Given the description of an element on the screen output the (x, y) to click on. 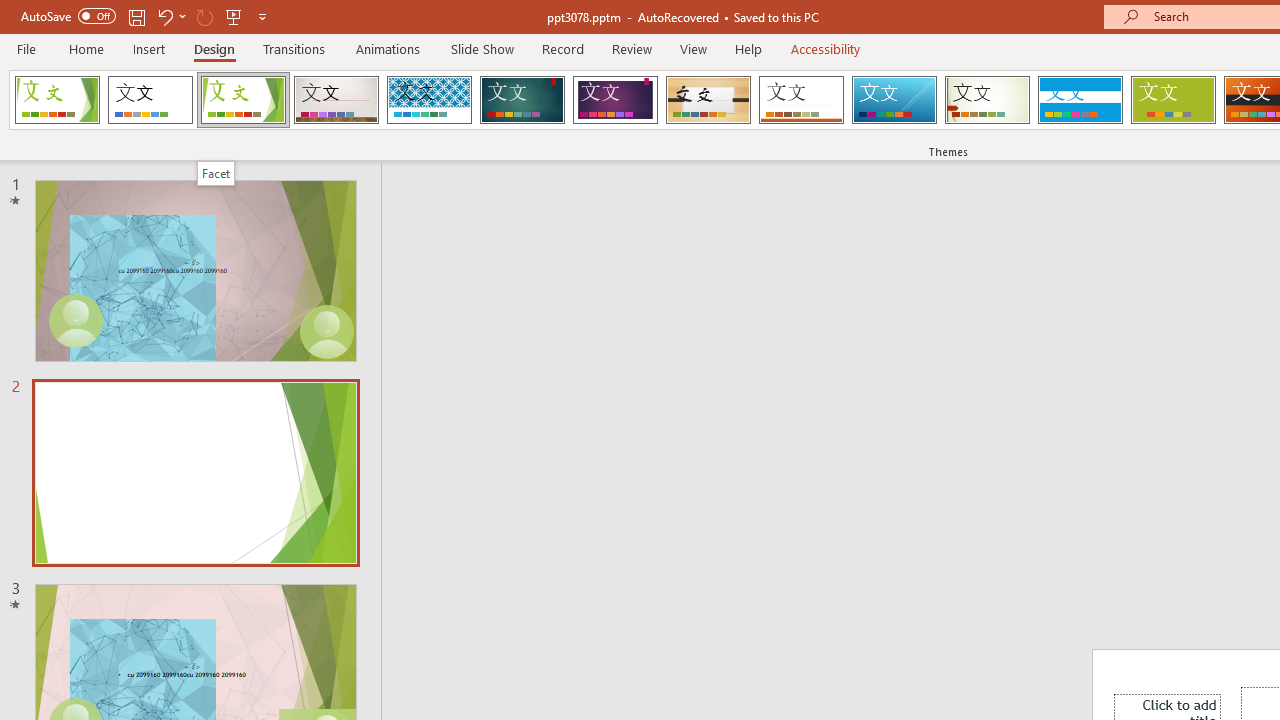
Dividend (57, 100)
Facet (216, 173)
Integral (429, 100)
Ion Boardroom (615, 100)
Retrospect (801, 100)
